Given the description of an element on the screen output the (x, y) to click on. 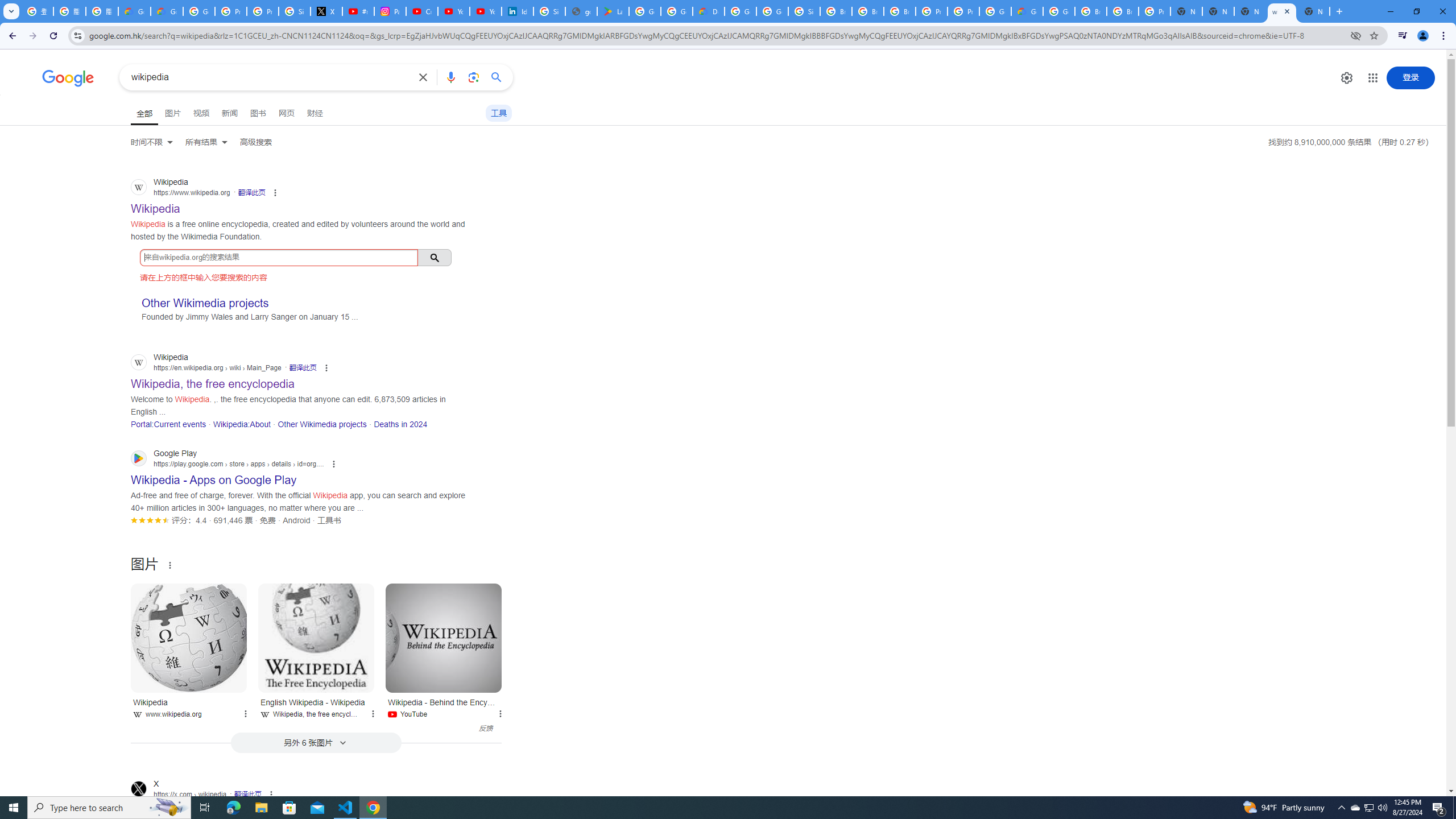
Wikipedia (189, 637)
Wikipedia (189, 637)
Google Cloud Platform (740, 11)
Privacy Help Center - Policies Help (262, 11)
Browse Chrome as a guest - Computer - Google Chrome Help (1091, 11)
Wikipedia:About (241, 424)
Wikipedia - Behind the Encyclopedia (443, 637)
Google Cloud Privacy Notice (134, 11)
